Given the description of an element on the screen output the (x, y) to click on. 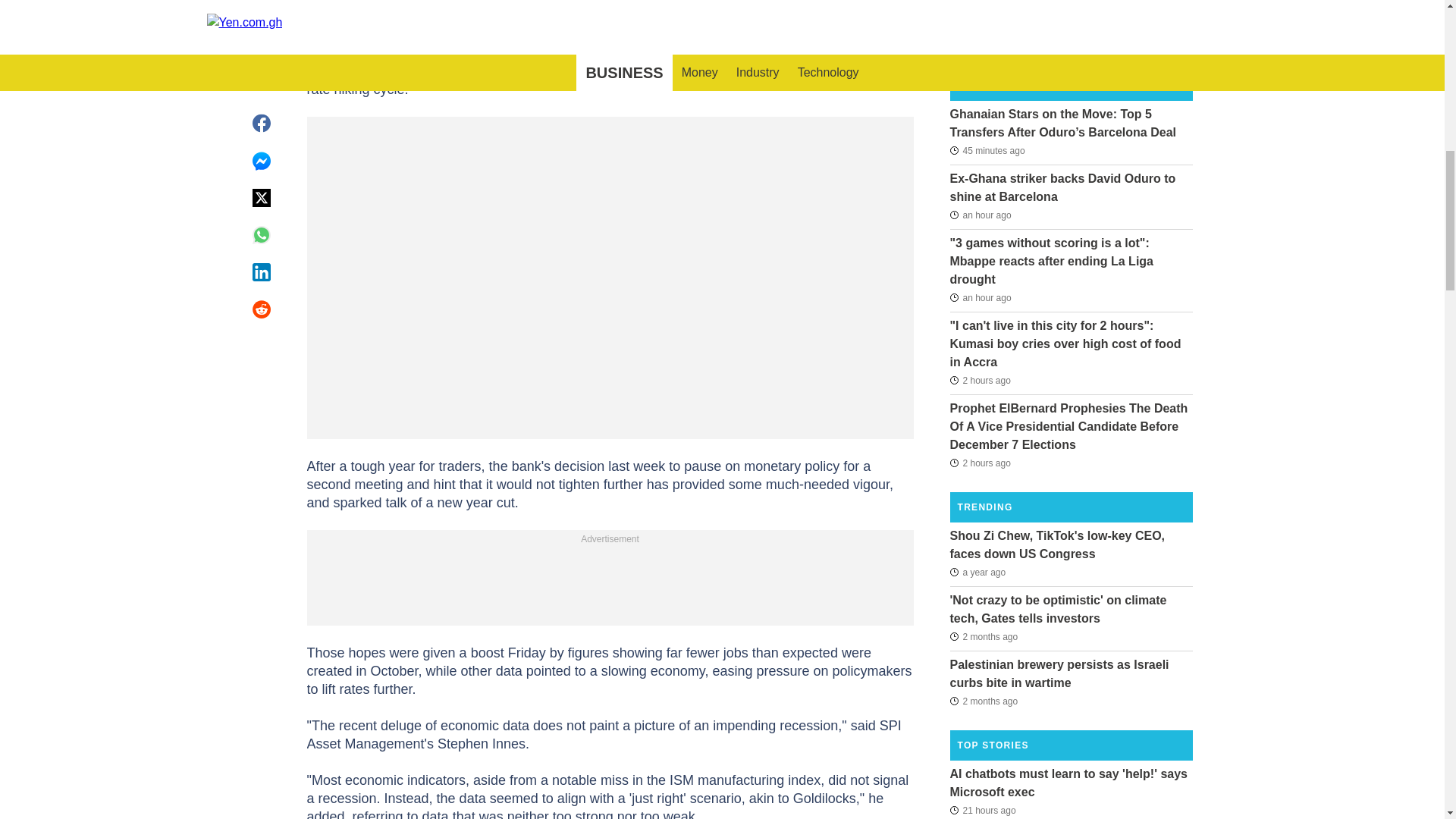
2024-09-01T03:19:03Z (981, 809)
2023-03-23T14:00:19Z (977, 571)
2024-09-01T22:04:28Z (979, 462)
2024-09-01T22:58:18Z (979, 215)
WhatsApp Channel (600, 12)
2024-09-01T22:41:55Z (979, 380)
2024-06-27T20:56:05Z (983, 637)
2024-06-28T02:35:07Z (983, 700)
2024-09-01T22:51:25Z (979, 297)
2024-09-02T00:03:41Z (987, 149)
